Given the description of an element on the screen output the (x, y) to click on. 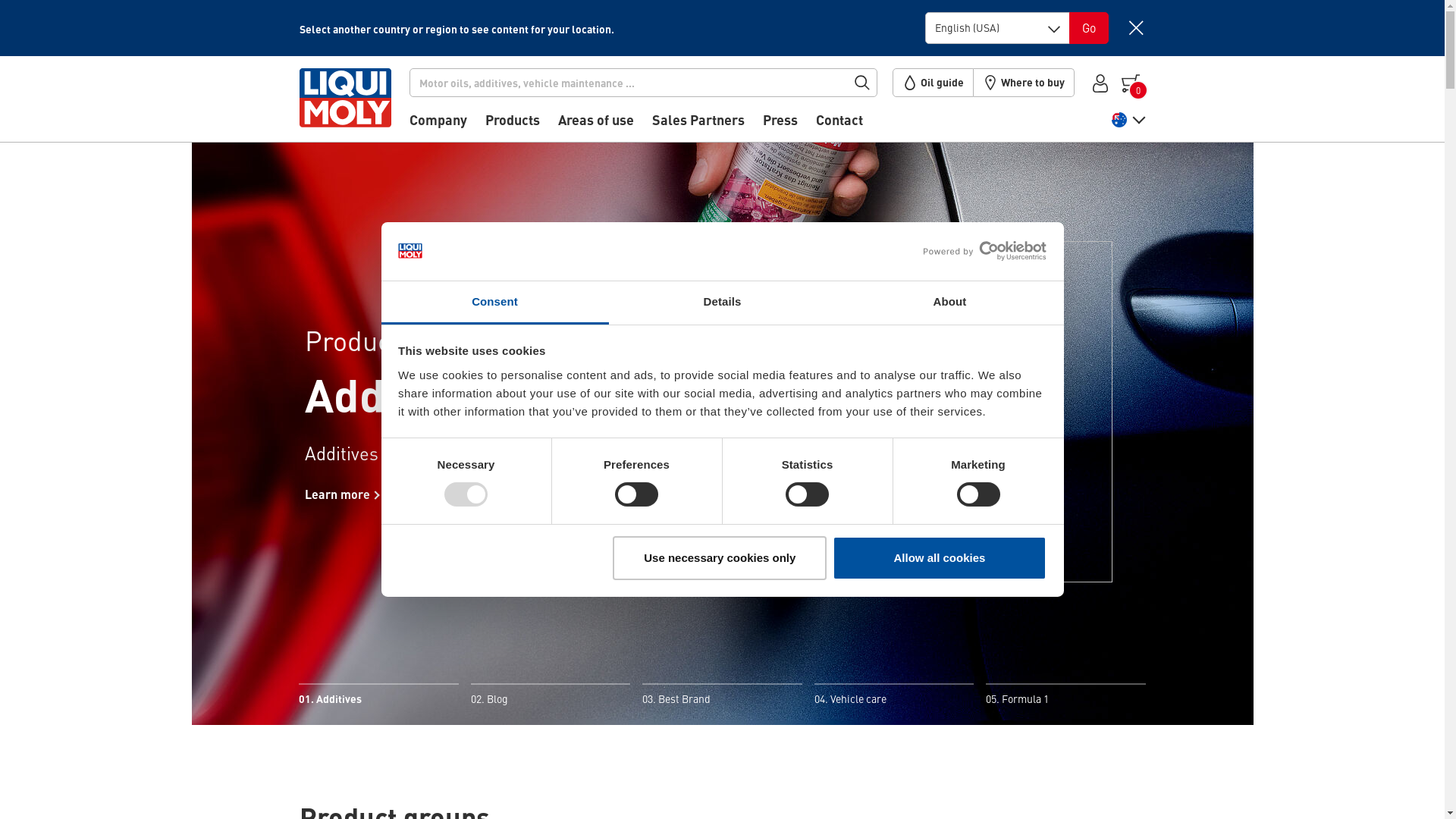
01. Additives Element type: text (378, 695)
Details Element type: text (721, 302)
Contact Element type: text (838, 125)
Areas of use Element type: text (595, 125)
Go Element type: text (1088, 27)
0 Element type: text (1132, 82)
Where to buy Element type: text (1023, 82)
Consent Element type: text (494, 302)
Allow all cookies Element type: text (939, 558)
Sales Partners Element type: text (698, 125)
04. Vehicle care Element type: text (893, 695)
Sign In Element type: hover (1099, 82)
Oil guide Element type: text (932, 82)
Use necessary cookies only Element type: text (719, 558)
03. Best Brand Element type: text (721, 695)
Company Element type: text (438, 125)
About Element type: text (949, 302)
02. Blog Element type: text (550, 695)
Products Element type: text (512, 125)
05. Formula 1 Element type: text (1065, 695)
Press Element type: text (779, 125)
